Given the description of an element on the screen output the (x, y) to click on. 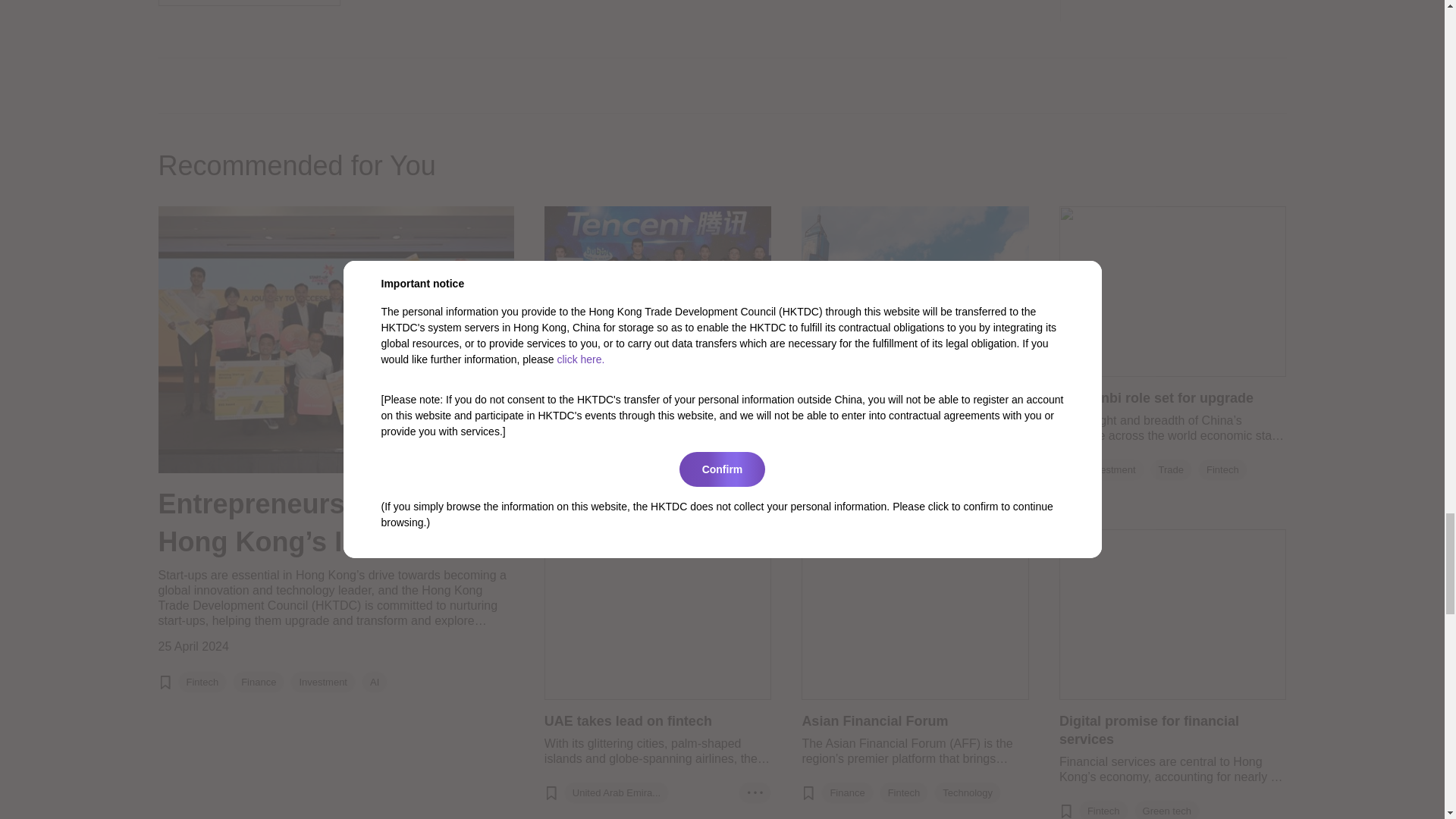
Investment (322, 682)
Fintech (202, 682)
Finance (258, 682)
